Given the description of an element on the screen output the (x, y) to click on. 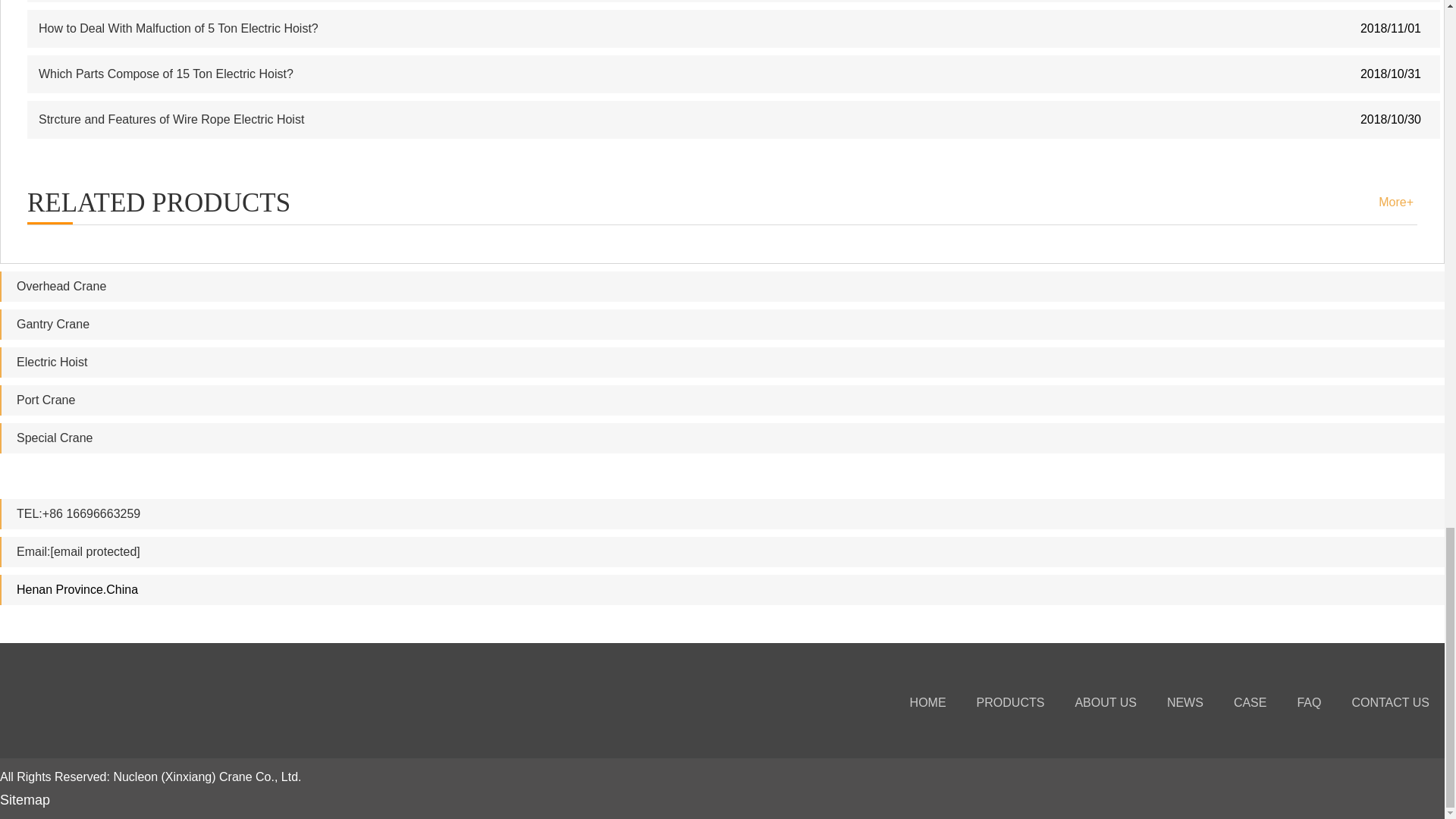
Which Parts Compose of 15 Ton Electric Hoist? (166, 73)
Special Crane (54, 437)
Overhead Crane (61, 286)
Strcture and Features of Wire Rope Electric Hoist (171, 119)
How to Deal With Malfuction of 5 Ton Electric Hoist? (178, 28)
Port Crane (45, 399)
Electric Hoist (51, 361)
Gantry Crane (52, 323)
